Given the description of an element on the screen output the (x, y) to click on. 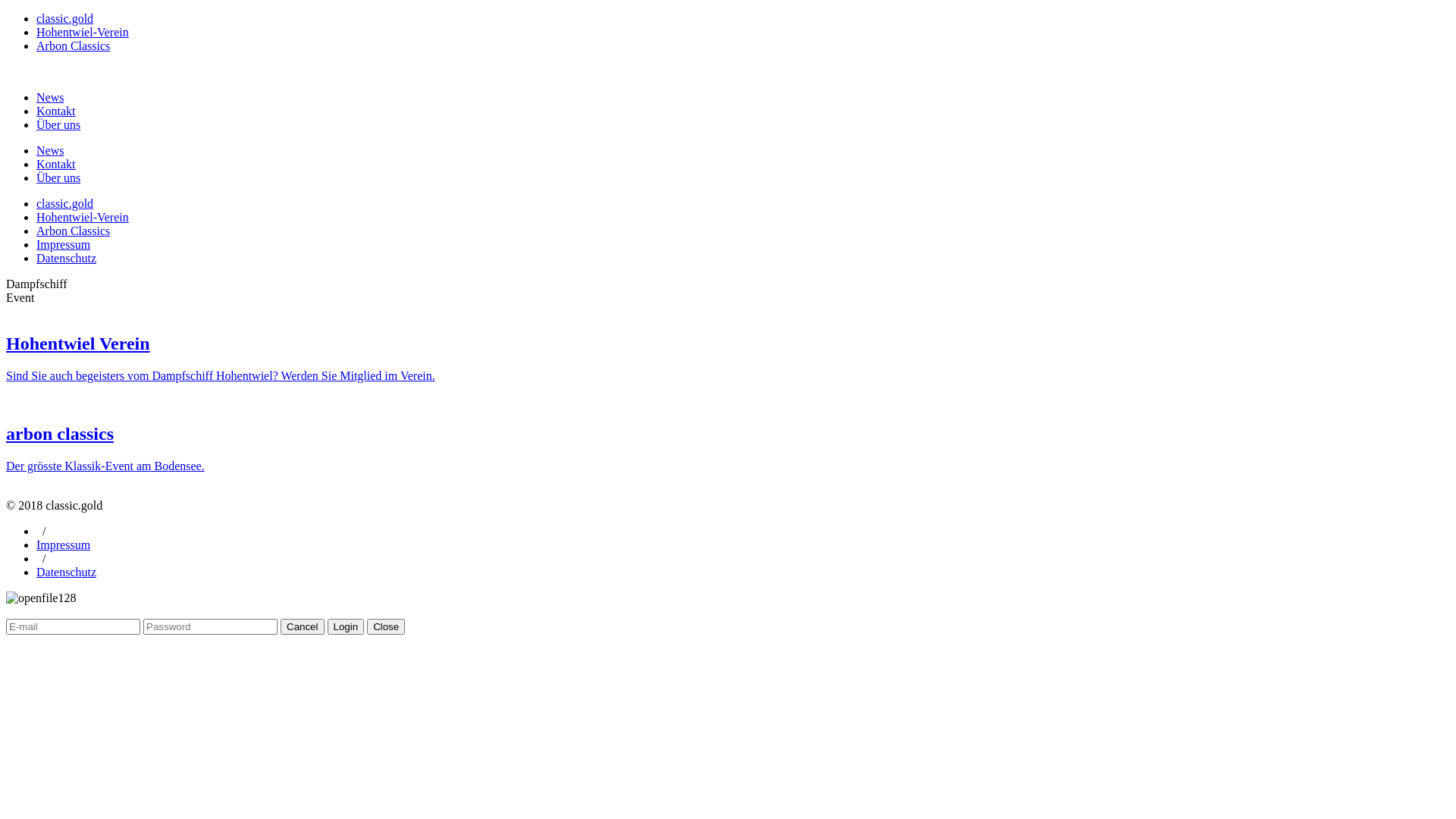
Hohentwiel-Verein Element type: text (82, 31)
Kontakt Element type: text (742, 110)
Hohentwiel-Verein Element type: text (82, 216)
Kontakt Element type: text (742, 164)
classic.gold Element type: text (64, 18)
Impressum Element type: text (63, 544)
Kontakt Element type: text (742, 111)
Cancel Element type: text (302, 626)
Kontakt Element type: text (742, 163)
Datenschutz Element type: text (66, 571)
Impressum Element type: text (63, 244)
Close Element type: text (385, 626)
Arbon Classics Element type: text (72, 230)
News Element type: text (742, 97)
Arbon Classics Element type: text (72, 45)
Datenschutz Element type: text (66, 257)
News Element type: text (742, 97)
classic.gold Element type: text (64, 203)
Login Element type: text (345, 626)
News Element type: text (742, 150)
News Element type: text (742, 150)
